Given the description of an element on the screen output the (x, y) to click on. 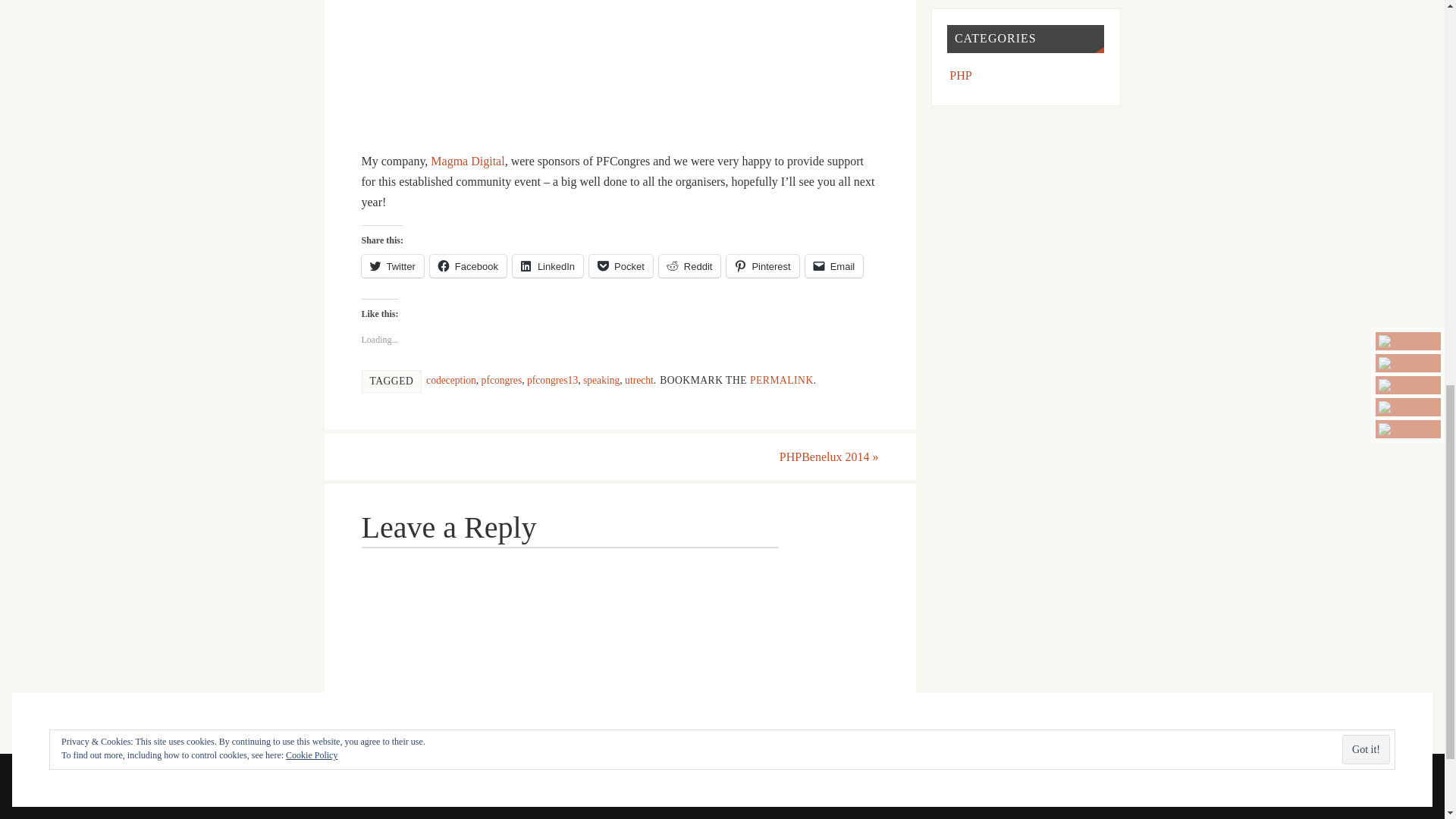
Facebook (467, 265)
speaking (601, 379)
Magma Digital (466, 160)
Pinterest (761, 265)
pfcongres13 (552, 379)
codeception (451, 379)
Pocket (620, 265)
pfcongres (501, 379)
Reddit (689, 265)
Twitter (392, 265)
